Given the description of an element on the screen output the (x, y) to click on. 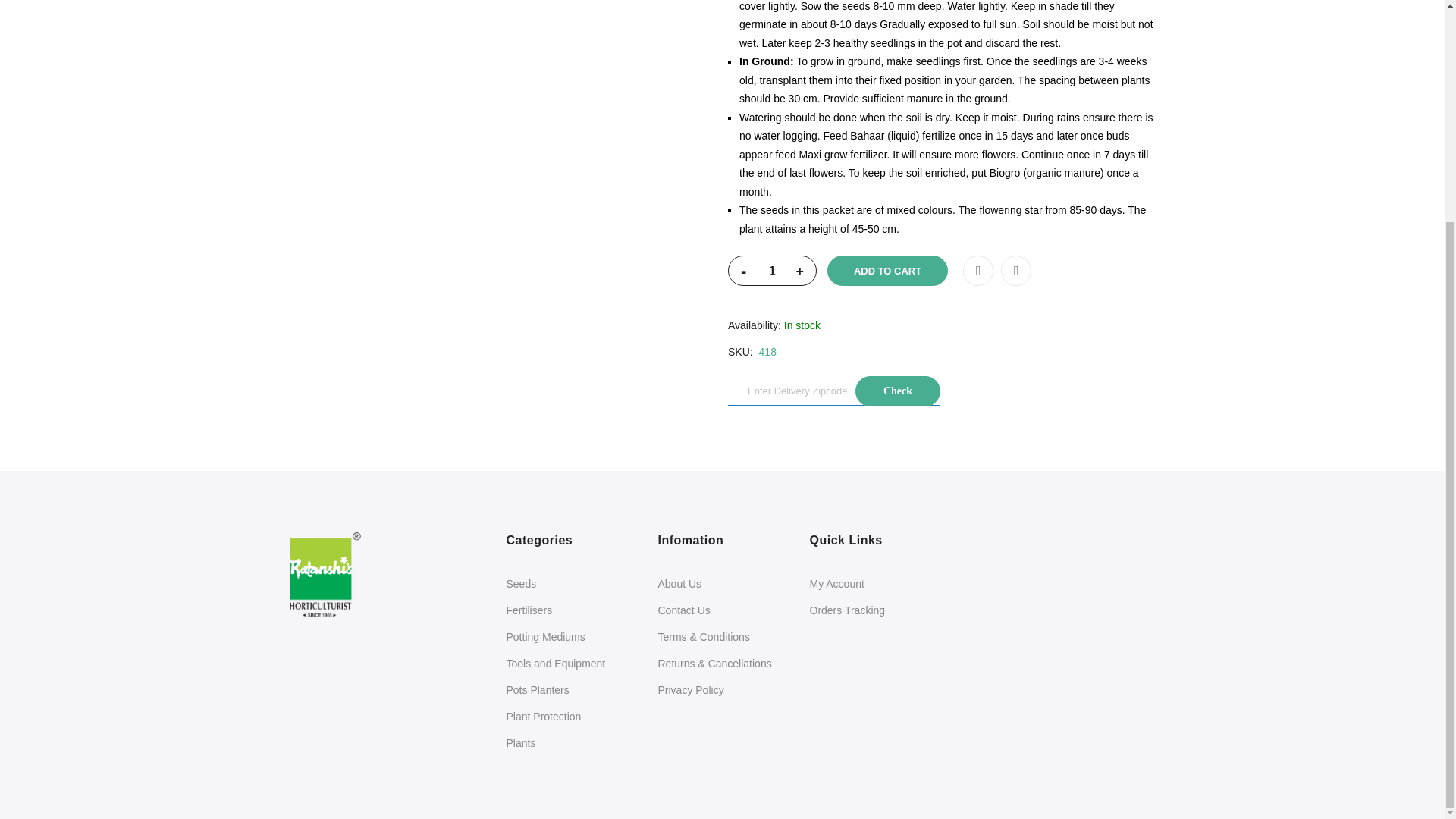
Availability (941, 325)
Add to Compare (1015, 270)
Add To Cart (887, 270)
1 (772, 271)
Check (898, 390)
Add to Wish List (977, 270)
Zipcode (834, 390)
Qty (772, 271)
